Given the description of an element on the screen output the (x, y) to click on. 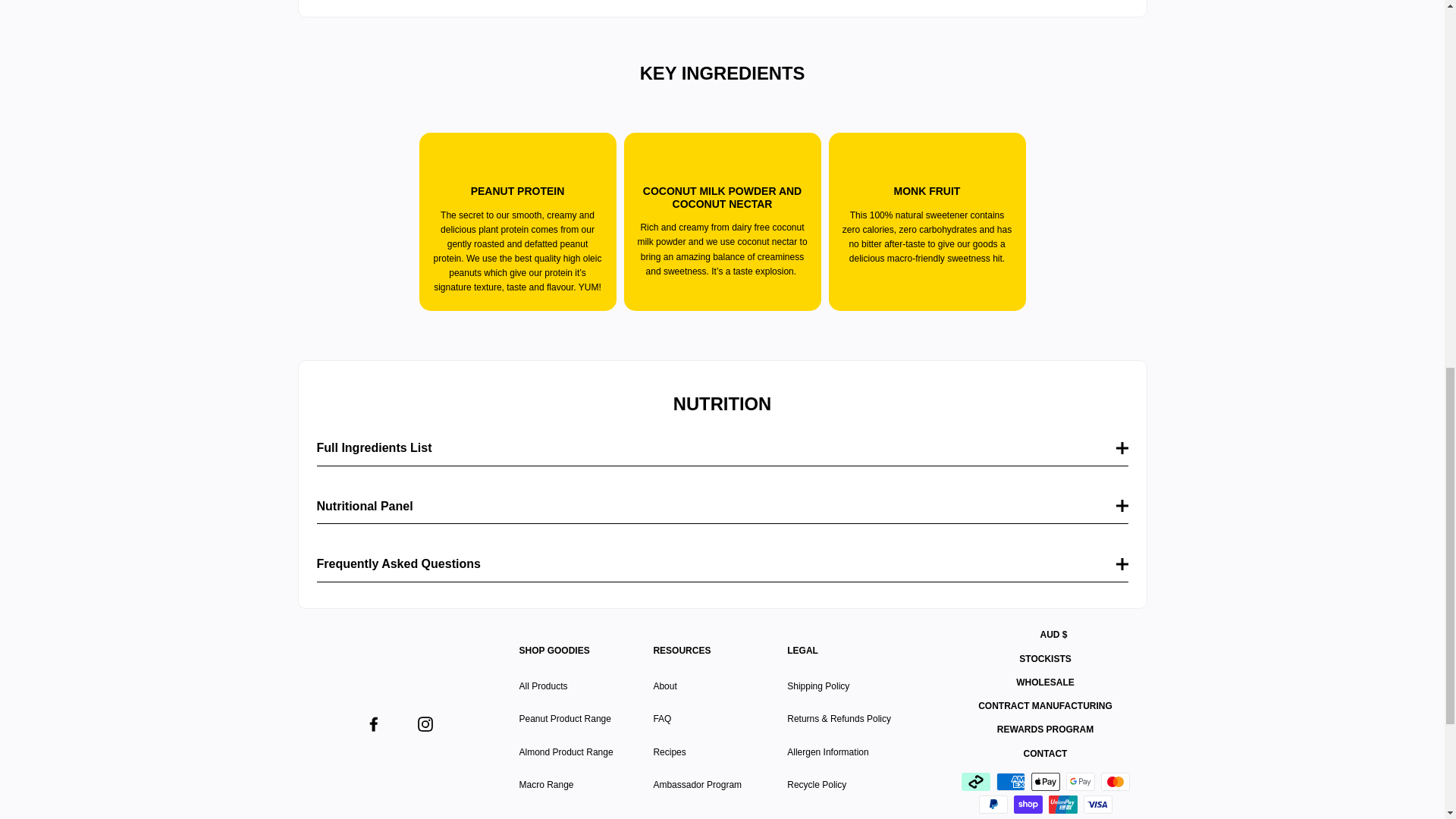
Visa (1097, 804)
Macro Mike on Facebook (372, 723)
American Express (1010, 782)
PayPal (992, 804)
Macro Mike on Instagram (424, 723)
Union Pay (1062, 804)
Apple Pay (1044, 782)
Mastercard (1114, 782)
Shop Pay (1027, 804)
Google Pay (1079, 782)
